Given the description of an element on the screen output the (x, y) to click on. 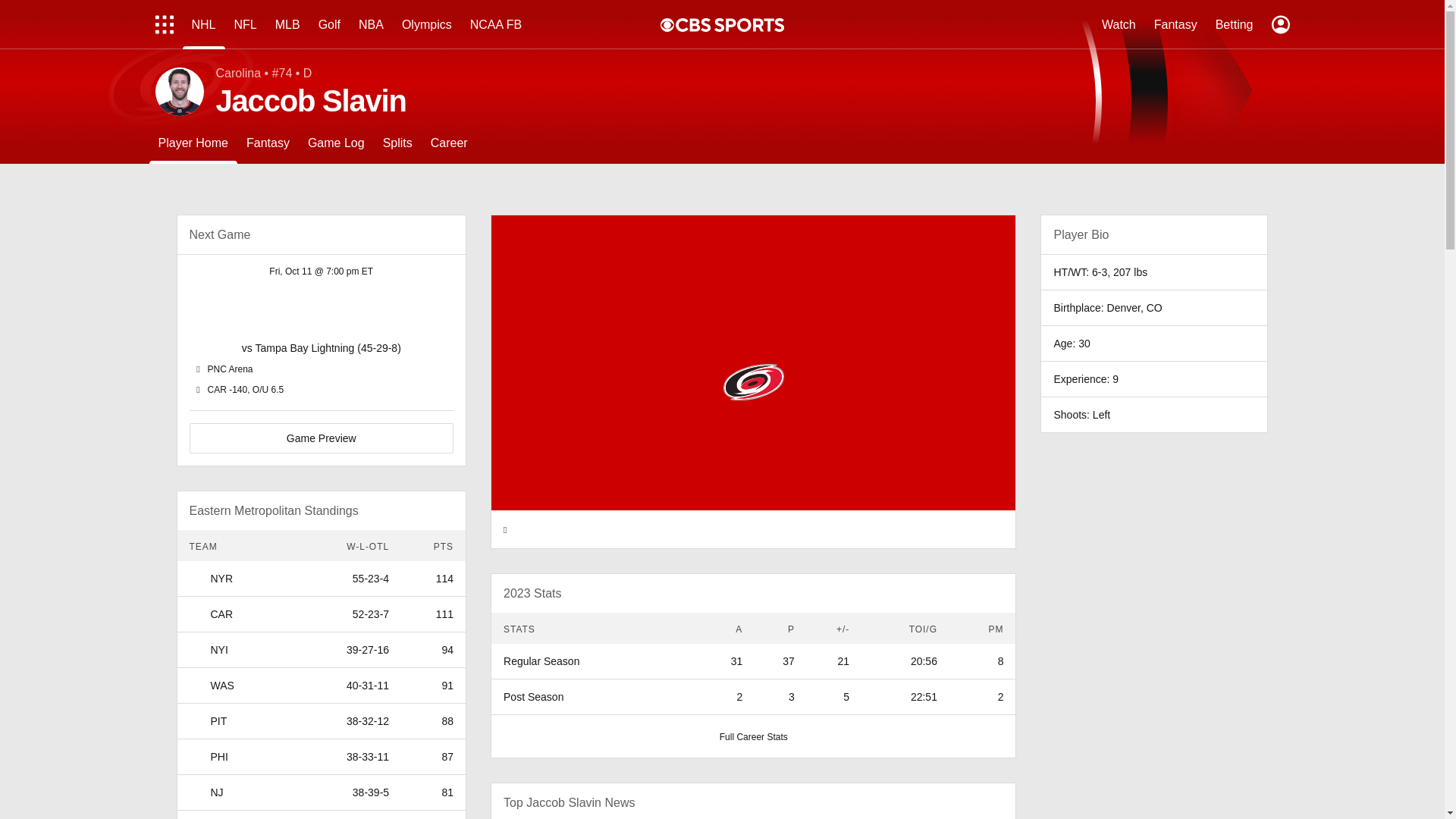
CBS Logo (729, 24)
CBS Eye (667, 24)
